Given the description of an element on the screen output the (x, y) to click on. 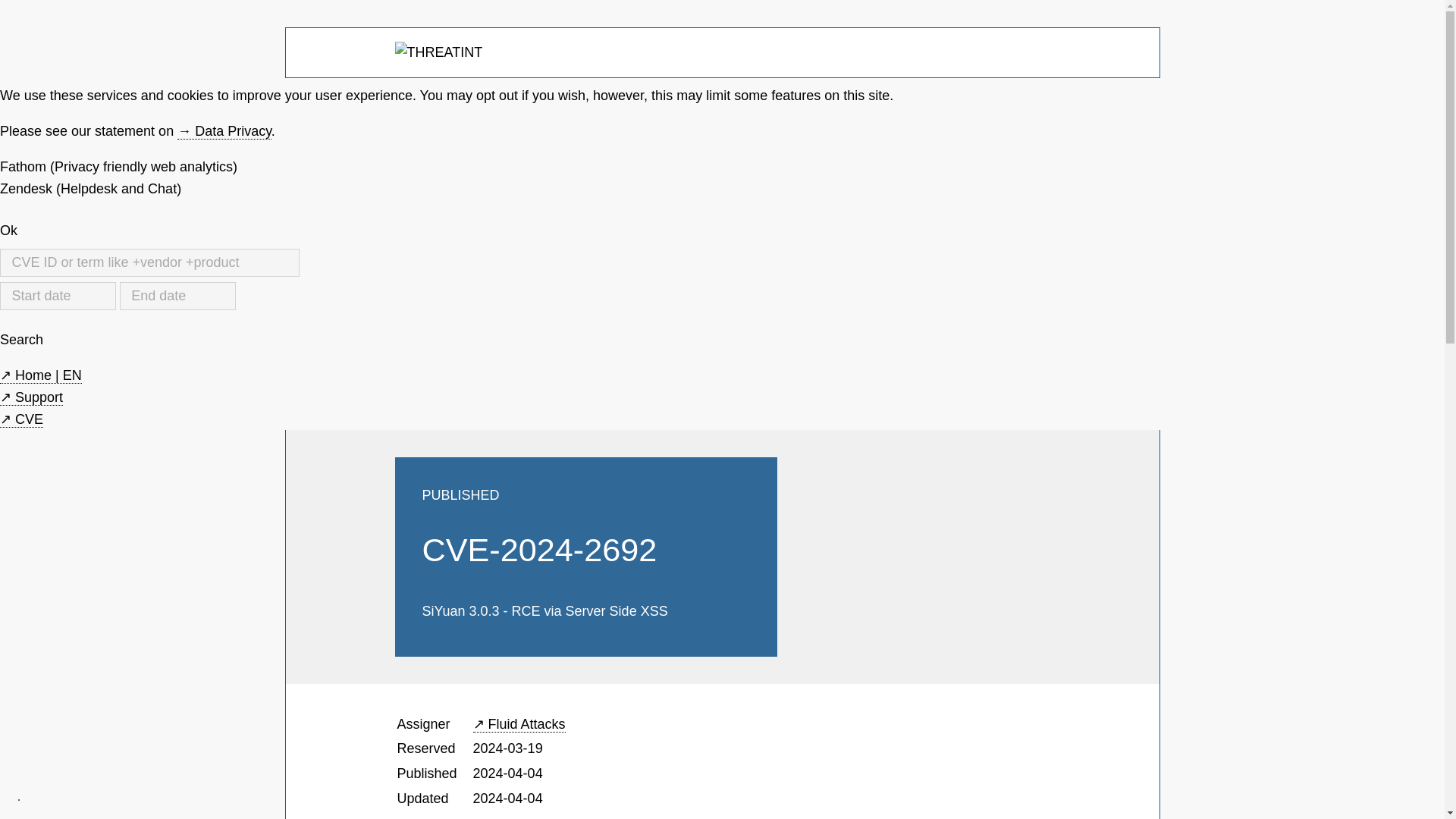
Support (31, 397)
CVE (21, 419)
Fluid Attacks (519, 724)
Data Privacy (223, 131)
